Given the description of an element on the screen output the (x, y) to click on. 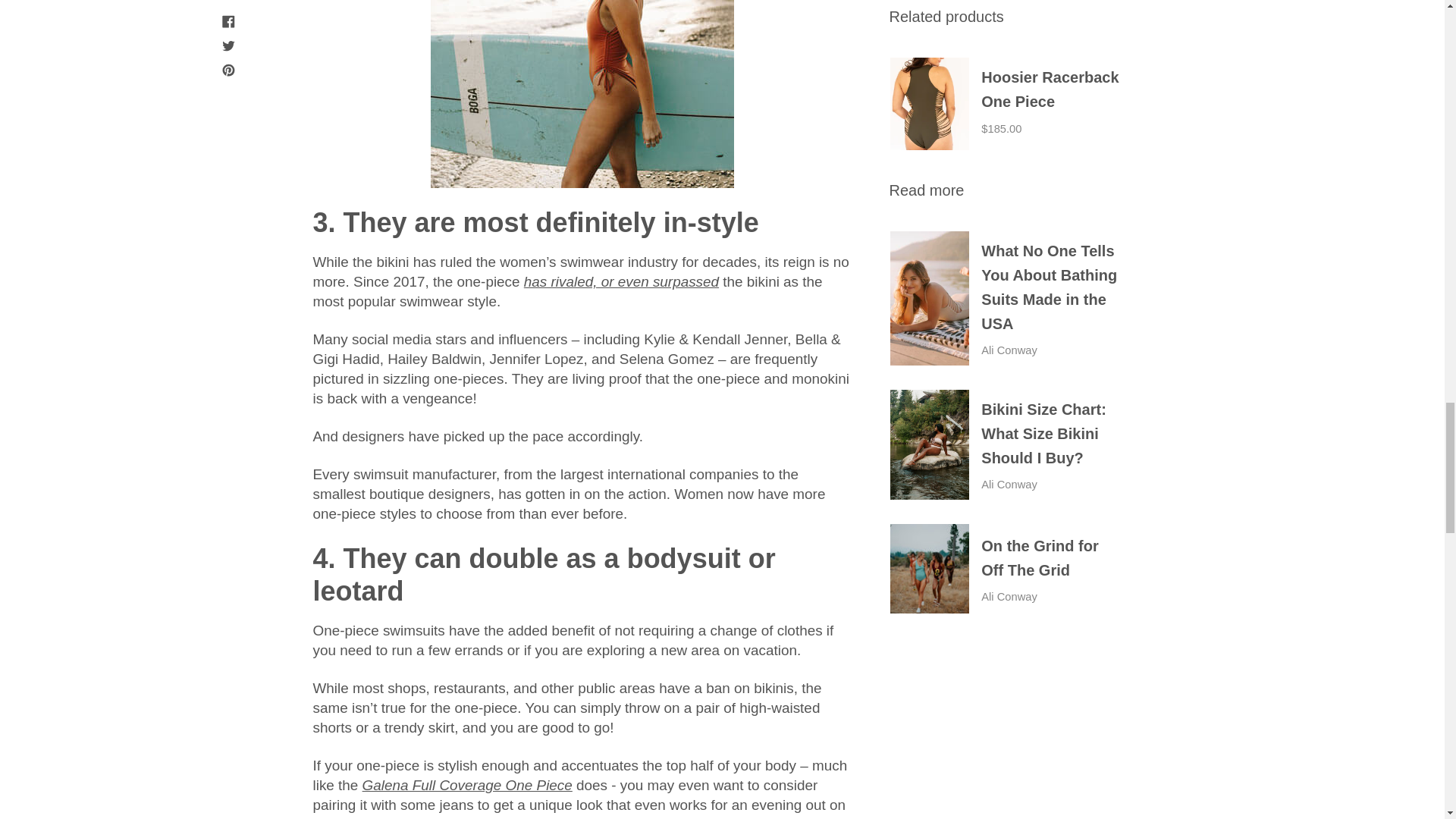
Galena Full Coverage One Piece (467, 785)
